Given the description of an element on the screen output the (x, y) to click on. 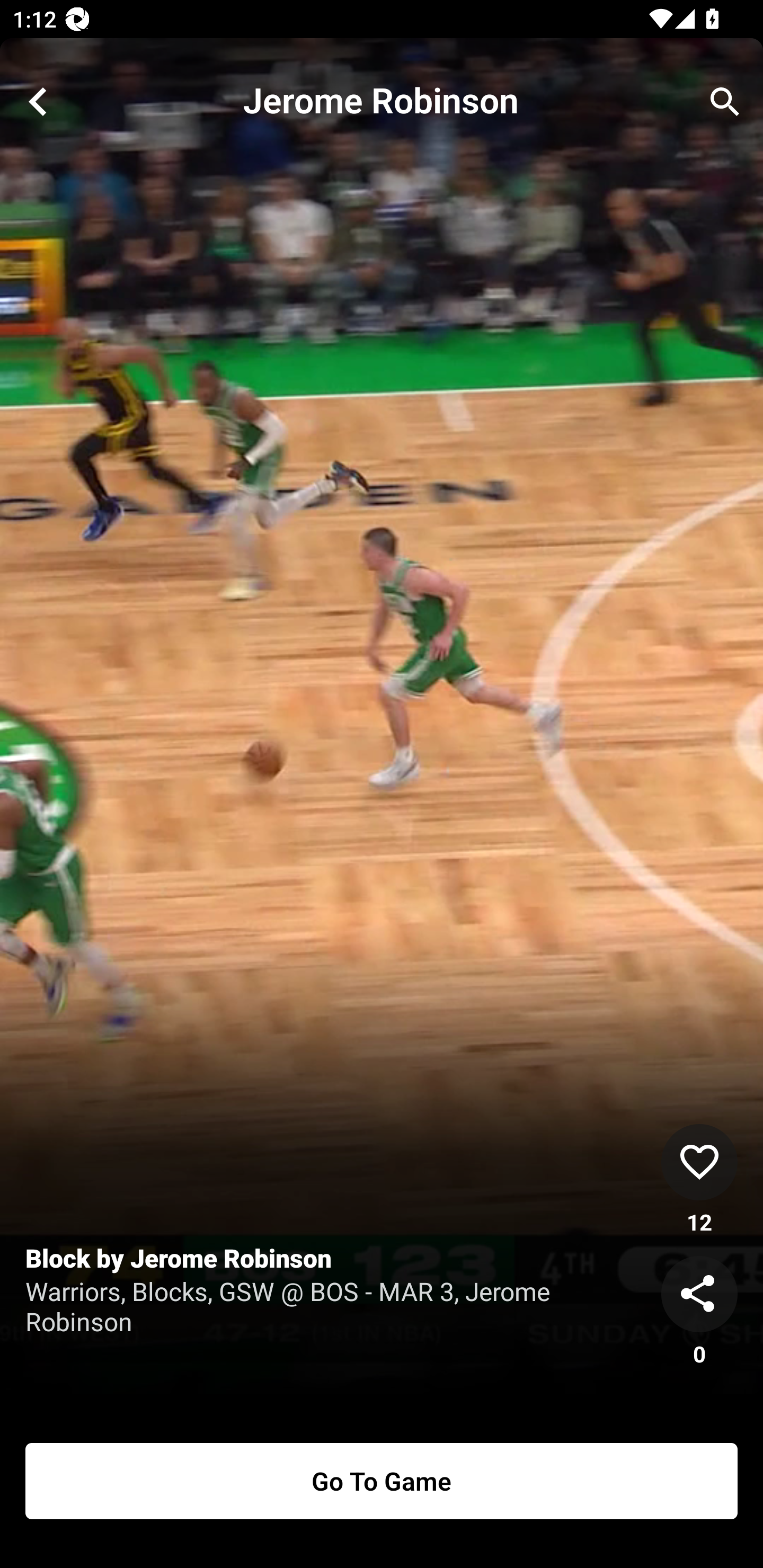
close (38, 101)
search (724, 101)
like 12 12 Likes (699, 1180)
share 0 0 Shares (699, 1311)
Go To Game (381, 1480)
